Given the description of an element on the screen output the (x, y) to click on. 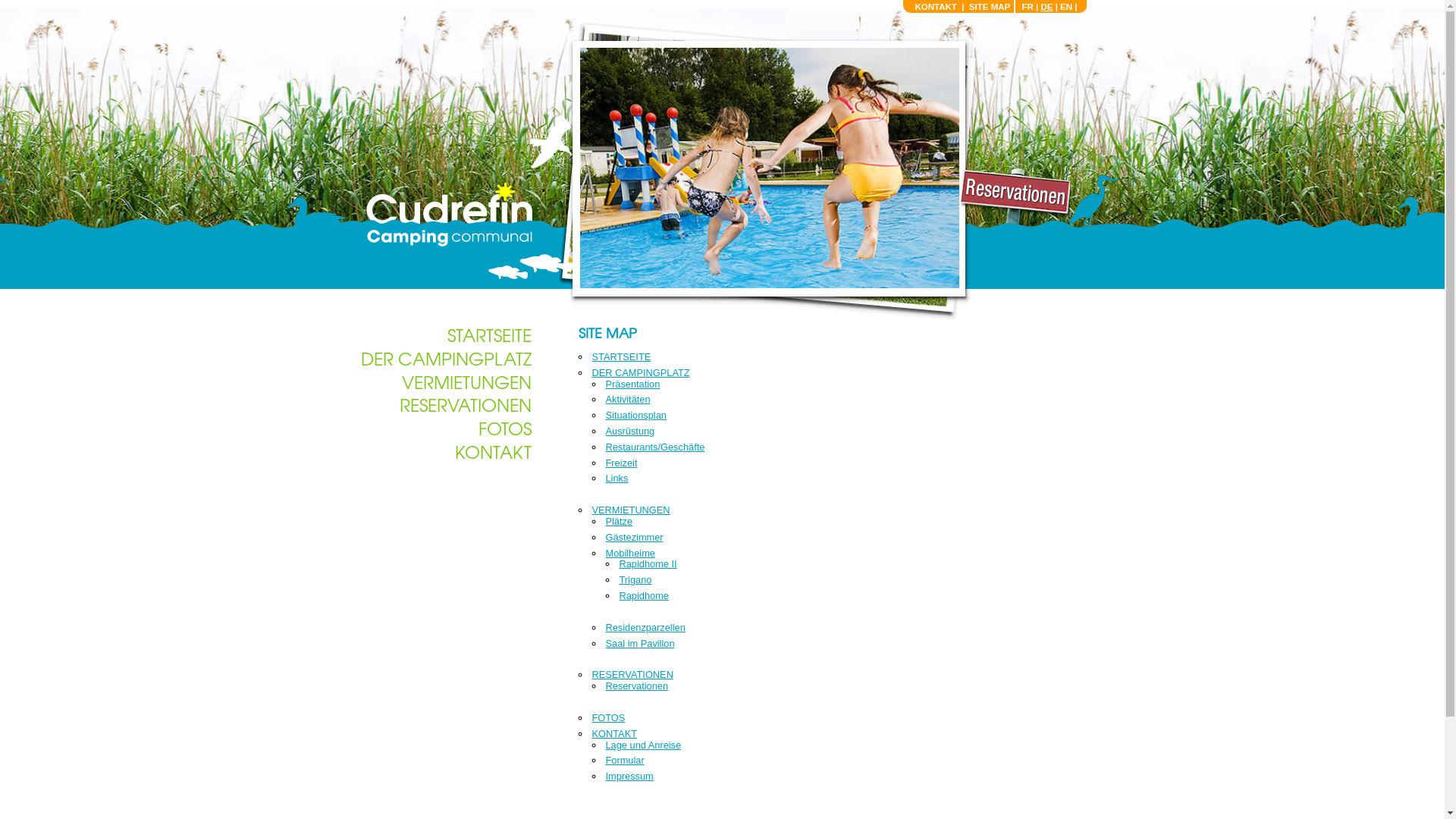
Rapidhome II Element type: text (647, 563)
  Element type: text (446, 214)
Rapidhome Element type: text (643, 595)
Trigano Element type: text (634, 579)
Reservationen Element type: text (636, 685)
KONTAKT Element type: text (493, 451)
FR Element type: text (1026, 6)
Freizeit Element type: text (621, 462)
Formular Element type: text (624, 759)
RESERVATIONEN Element type: text (464, 404)
DER CAMPINGPLATZ Element type: text (445, 357)
STARTSEITE Element type: text (620, 356)
VERMIETUNGEN Element type: text (630, 509)
DER CAMPINGPLATZ Element type: text (640, 372)
Situationsplan Element type: text (635, 414)
SITE MAP Element type: text (989, 6)
DE Element type: text (1046, 6)
Impressum Element type: text (628, 775)
VERMIETUNGEN Element type: text (466, 381)
FOTOS Element type: text (503, 427)
RESERVATIONEN Element type: text (631, 674)
Saal im Pavillon Element type: text (639, 643)
Lage und Anreise Element type: text (642, 744)
Links Element type: text (616, 477)
KONTAKT Element type: text (935, 6)
EN Element type: text (1066, 6)
FOTOS Element type: text (607, 717)
Residenzparzellen Element type: text (644, 627)
KONTAKT Element type: text (614, 733)
STARTSEITE Element type: text (489, 334)
Mobilheime Element type: text (629, 552)
